Given the description of an element on the screen output the (x, y) to click on. 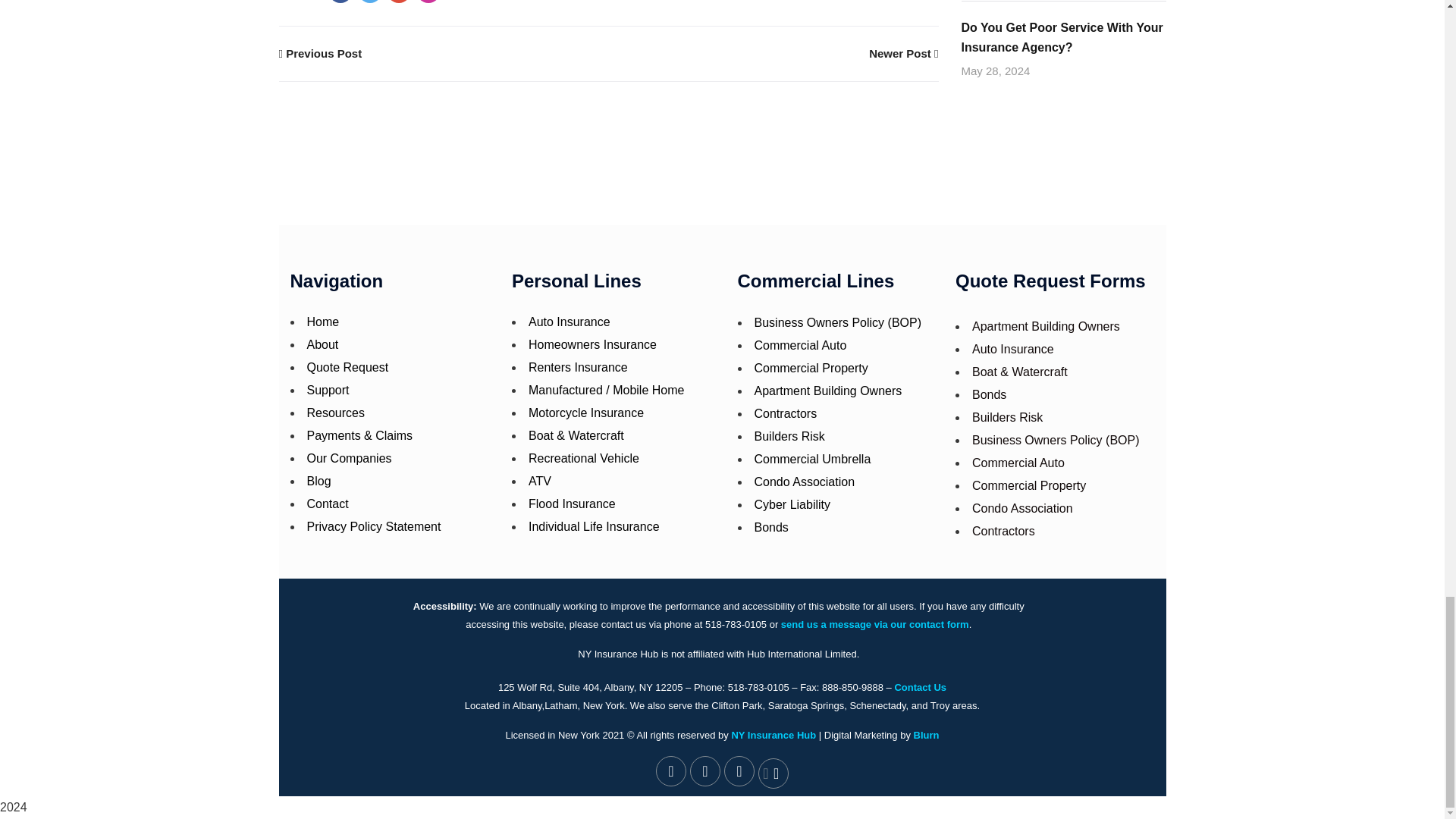
Pinterest (428, 1)
Google Plus (398, 1)
Twitter (369, 1)
Facebook (340, 1)
